Given the description of an element on the screen output the (x, y) to click on. 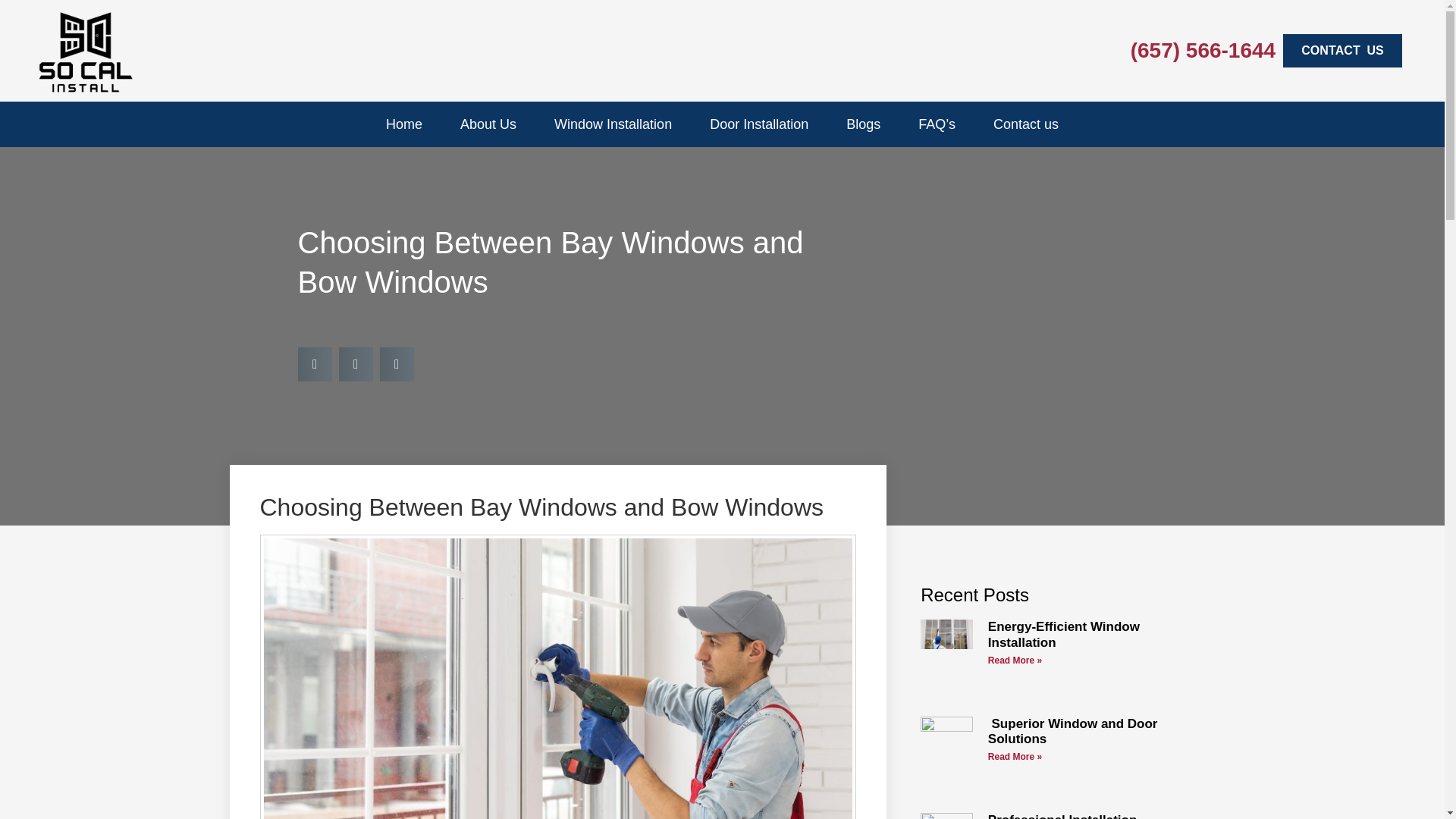
Home (404, 123)
Window Installation (612, 123)
Blogs (863, 123)
Door Installation (759, 123)
About Us (488, 123)
CONTACT US (1342, 50)
Contact us (1026, 123)
